Given the description of an element on the screen output the (x, y) to click on. 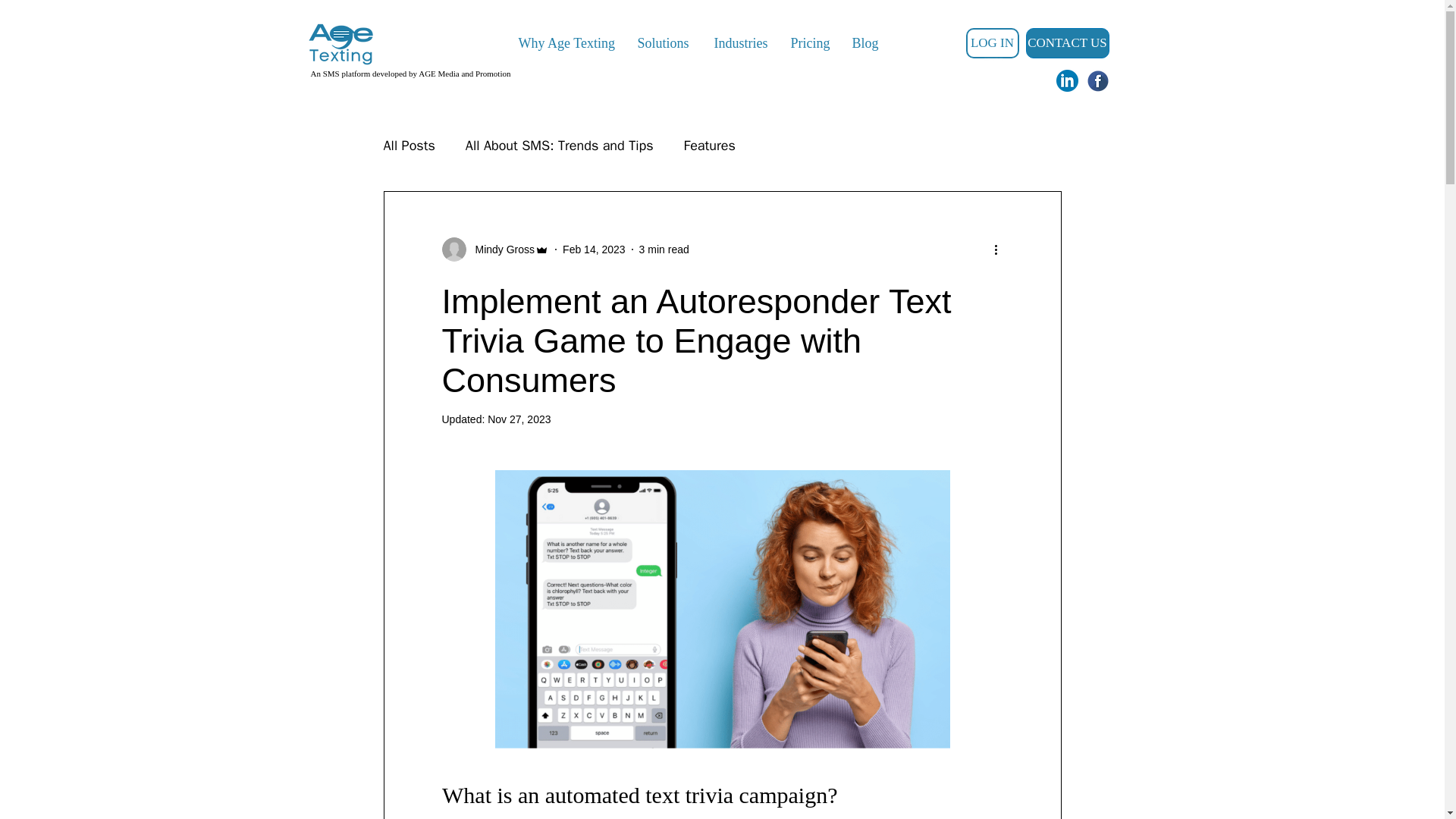
Mindy Gross (499, 248)
Solutions (661, 43)
Request pricing (688, 46)
Industries (739, 43)
Follow us on LinkedIn! (1066, 80)
Blog (864, 43)
LOG IN (992, 42)
Features (709, 145)
Nov 27, 2023 (518, 419)
3 min read (663, 248)
Log into my account (992, 35)
Why Age Texting (564, 43)
Feb 14, 2023 (594, 248)
Mindy Gross (494, 249)
All Posts (409, 145)
